Given the description of an element on the screen output the (x, y) to click on. 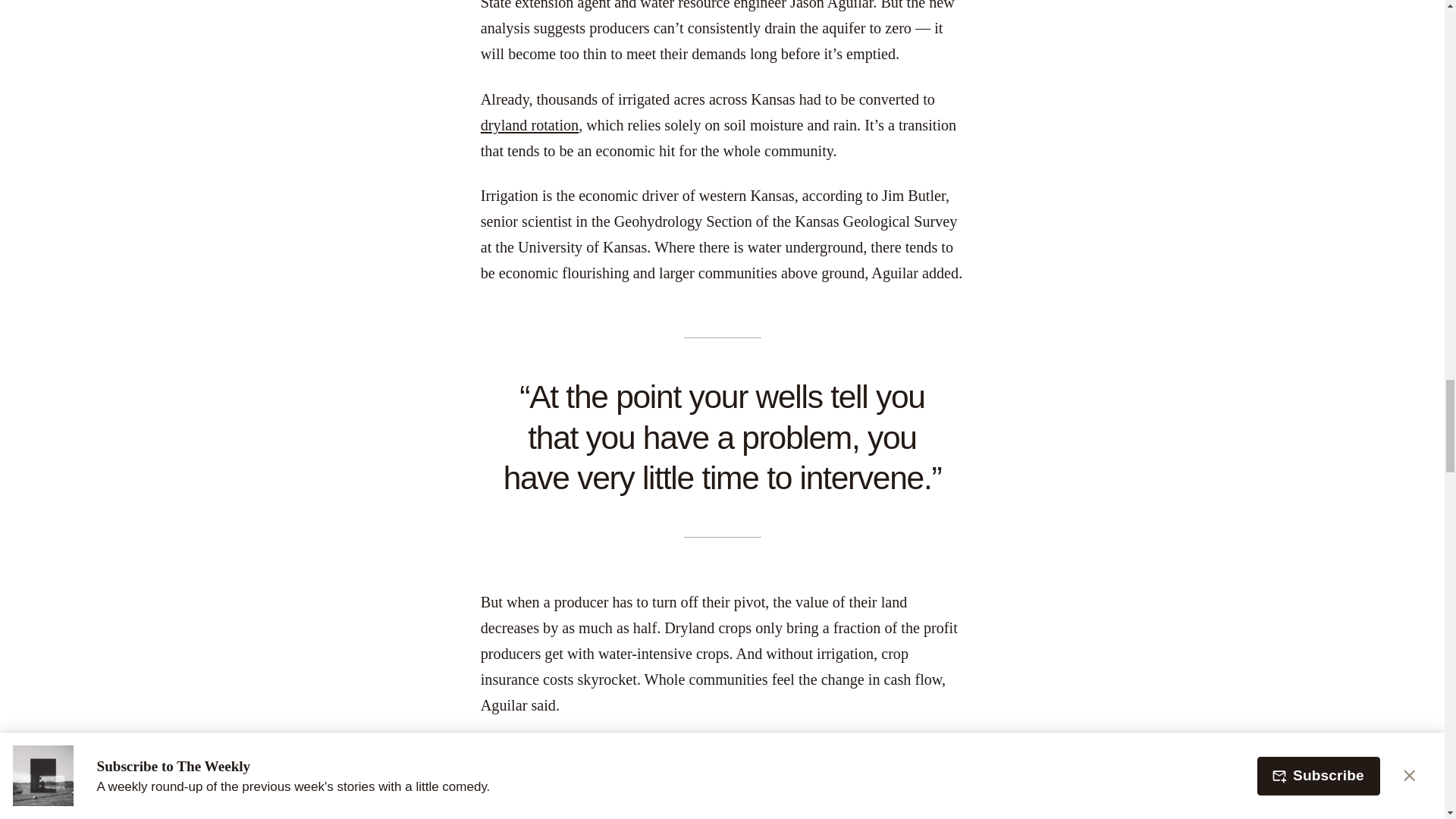
dryland rotation (529, 125)
